Given the description of an element on the screen output the (x, y) to click on. 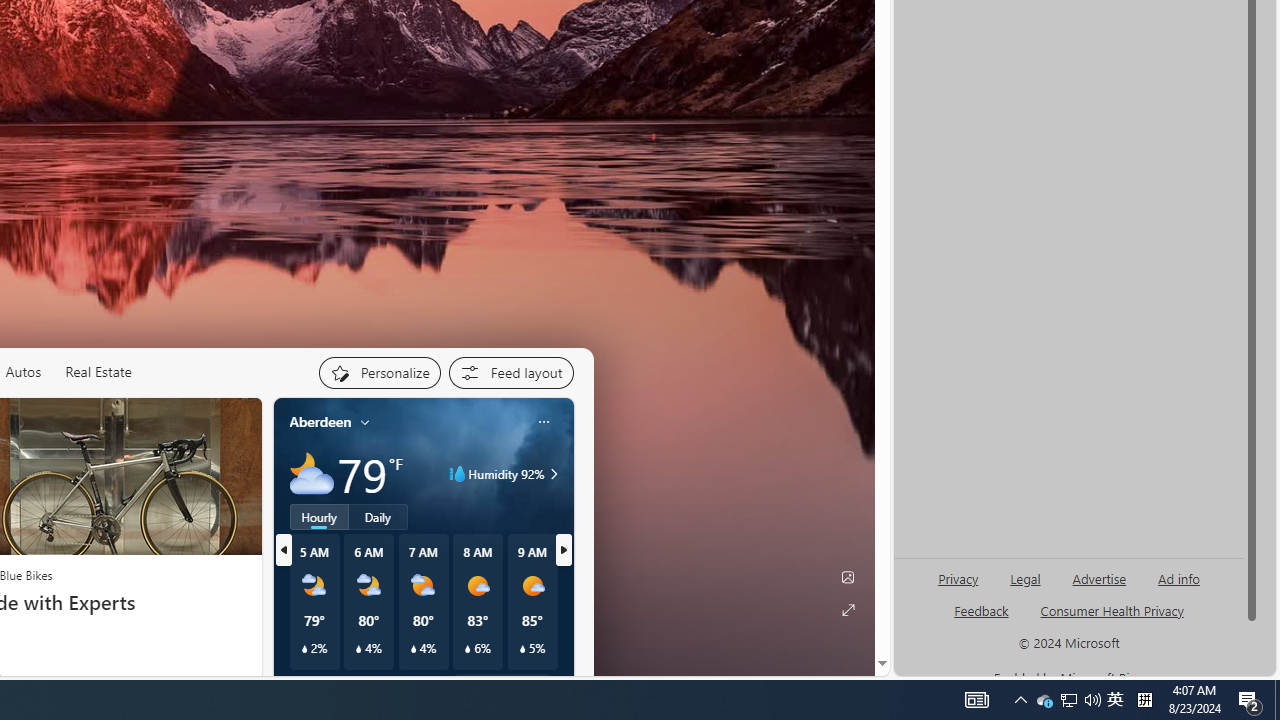
Personalize your feed" (379, 372)
AutomationID: genId96 (981, 619)
next (563, 549)
Class: weather-arrow-glyph (554, 474)
Class: weather-current-precipitation-glyph (522, 649)
Expand background (847, 610)
